Given the description of an element on the screen output the (x, y) to click on. 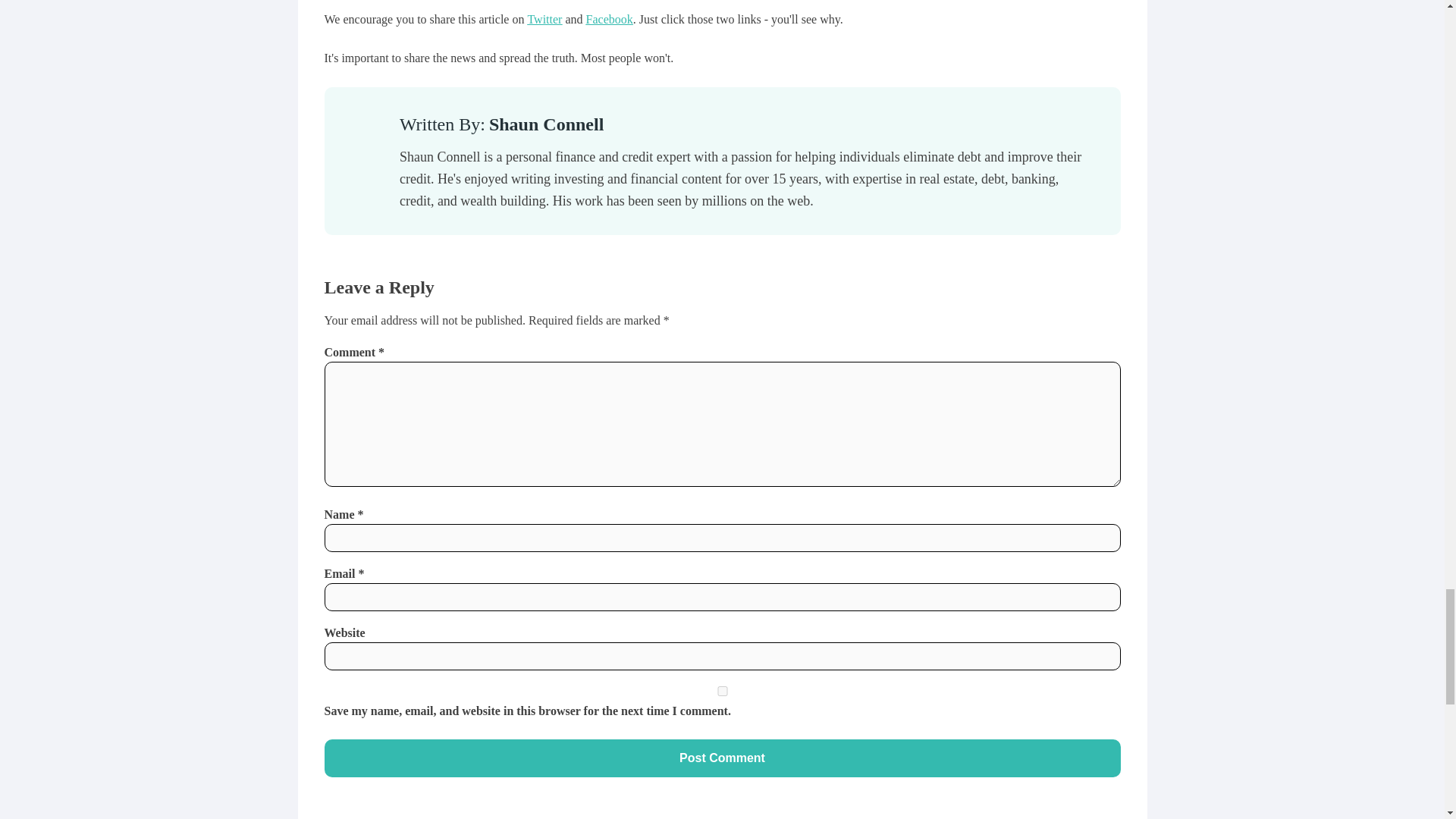
Facebook (609, 19)
Does Financing Furniture Hurt Your Credit Score? (965, 4)
yes (722, 691)
Post Comment (722, 758)
Twitter (544, 19)
Post Comment (722, 758)
Does Financing Furniture Hurt Your Credit Score? (965, 4)
